Given the description of an element on the screen output the (x, y) to click on. 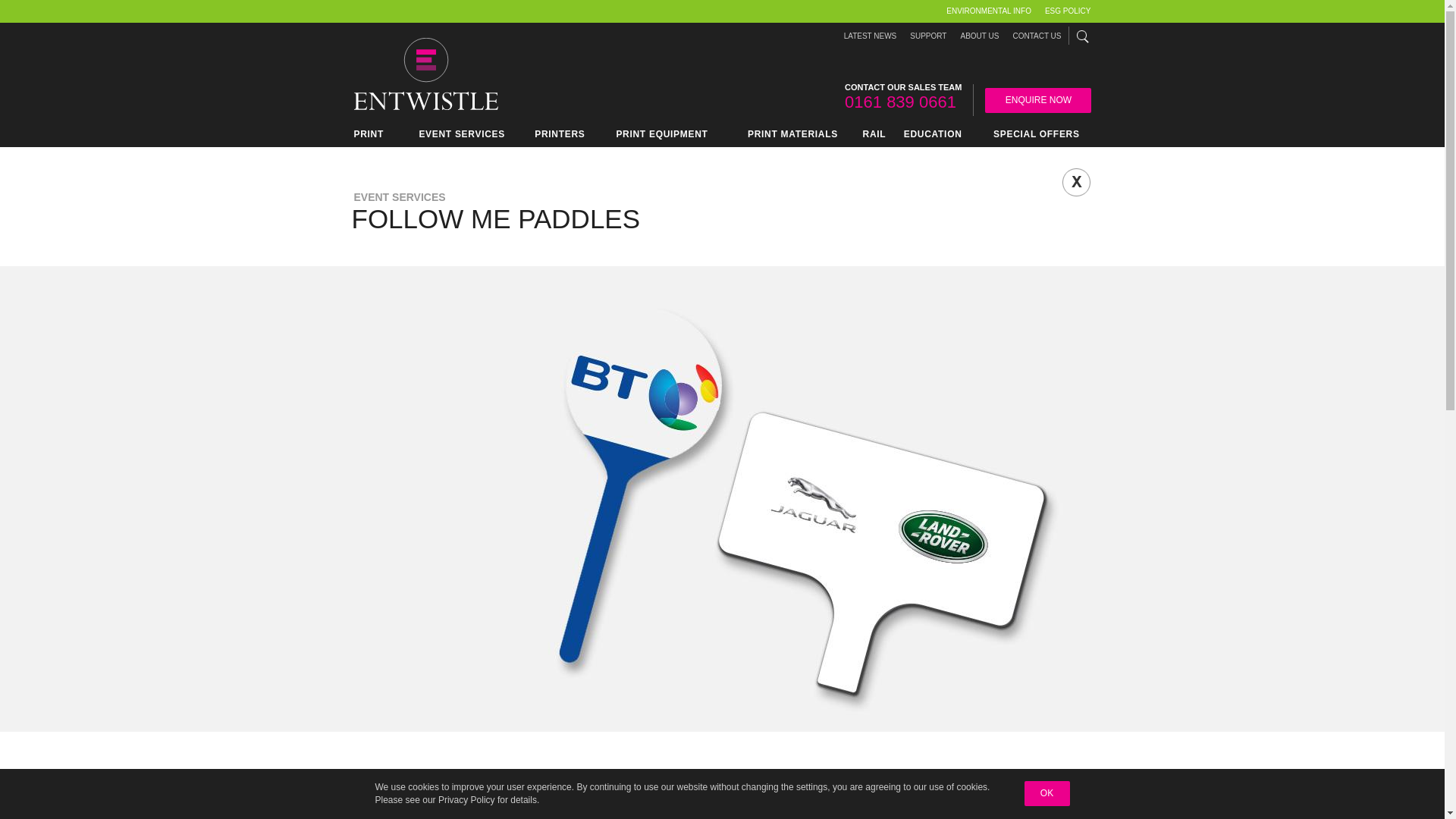
ESG POLICY (1064, 10)
0161 839 0661 (900, 101)
PRINT EQUIPMENT (661, 136)
ENQUIRE NOW (1037, 100)
PRINTERS (559, 136)
ENVIRONMENTAL INFO (988, 10)
ABOUT US (978, 35)
PRINT (372, 136)
SUPPORT (928, 35)
LATEST NEWS (870, 35)
CONTACT US (1036, 35)
EVENT SERVICES (462, 136)
